Given the description of an element on the screen output the (x, y) to click on. 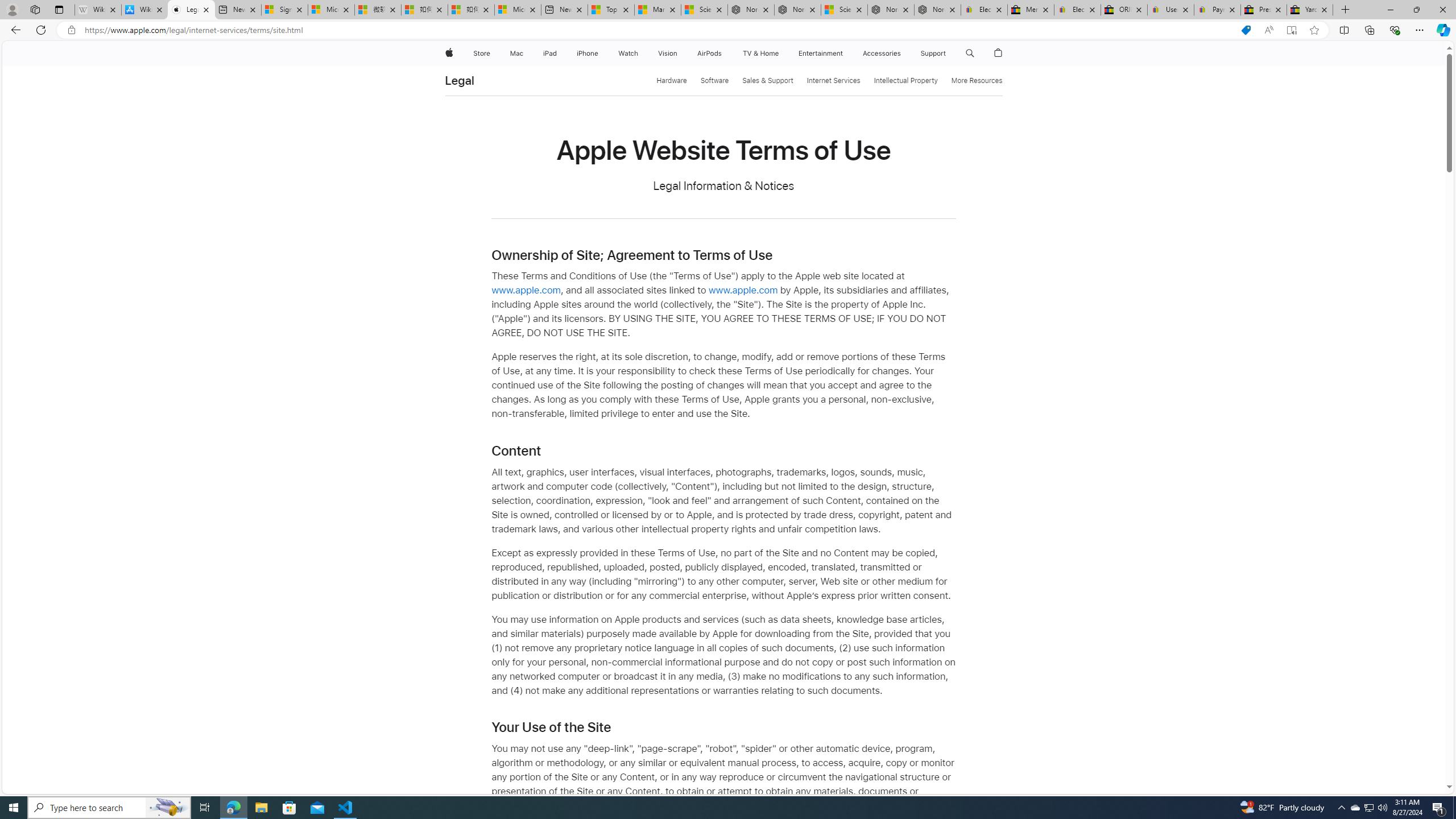
Vision (667, 53)
Support (932, 53)
iPhone menu (600, 53)
Legal - Website Terms of Use - Apple (191, 9)
Class: globalnav-item globalnav-search shift-0-1 (969, 53)
Shopping Bag (998, 53)
Accessories (881, 53)
iPad menu (557, 53)
